Given the description of an element on the screen output the (x, y) to click on. 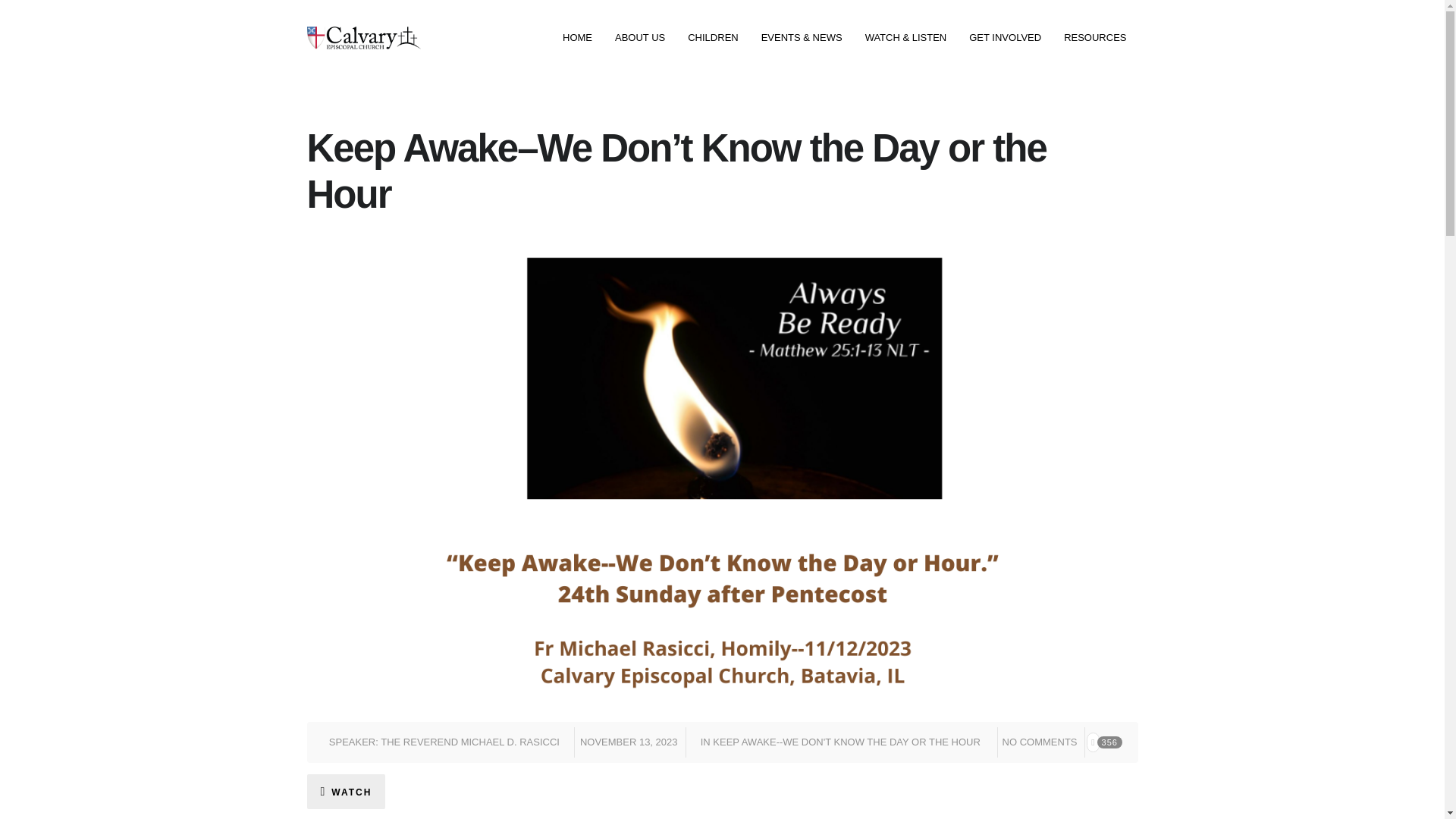
RESOURCES (1094, 38)
GET INVOLVED (1005, 38)
ABOUT US (640, 38)
HOME (577, 38)
CHILDREN (713, 38)
